Given the description of an element on the screen output the (x, y) to click on. 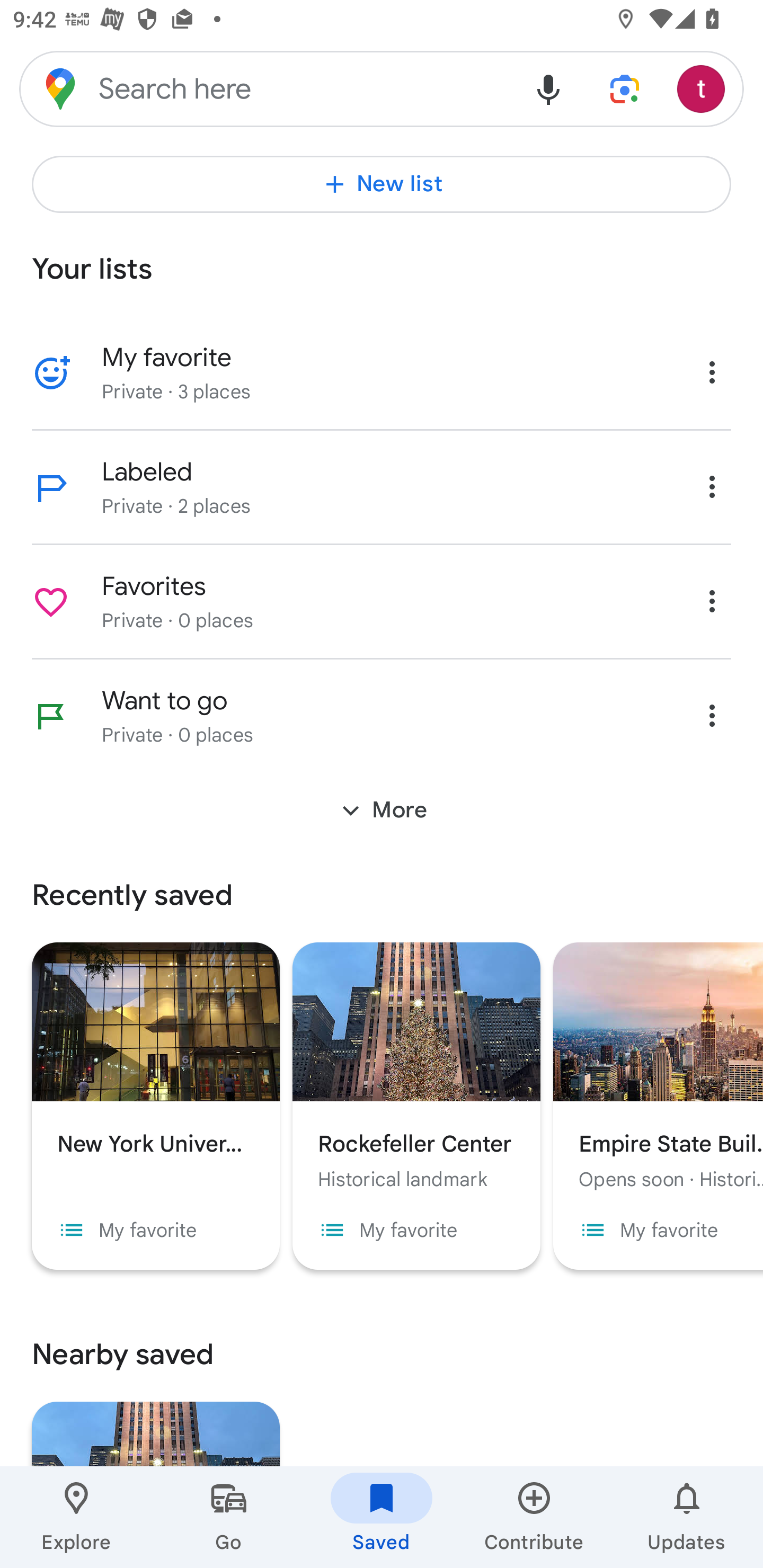
Search here (264, 88)
Voice search (548, 88)
Lens in Maps (624, 88)
New list (381, 183)
Options for My favorite (711, 371)
Edit list (51, 373)
Settings for labeled places (711, 486)
Options for Favorites (711, 600)
Edit list (51, 601)
Options for Want to go (711, 715)
Edit list (51, 716)
See more for Your Lists More (381, 810)
New York University Tandon School of Engineering (156, 1067)
Rockefeller Center Historical landmark (416, 1067)
Explore (76, 1517)
Go (228, 1517)
Contribute (533, 1517)
Updates (686, 1517)
